Given the description of an element on the screen output the (x, y) to click on. 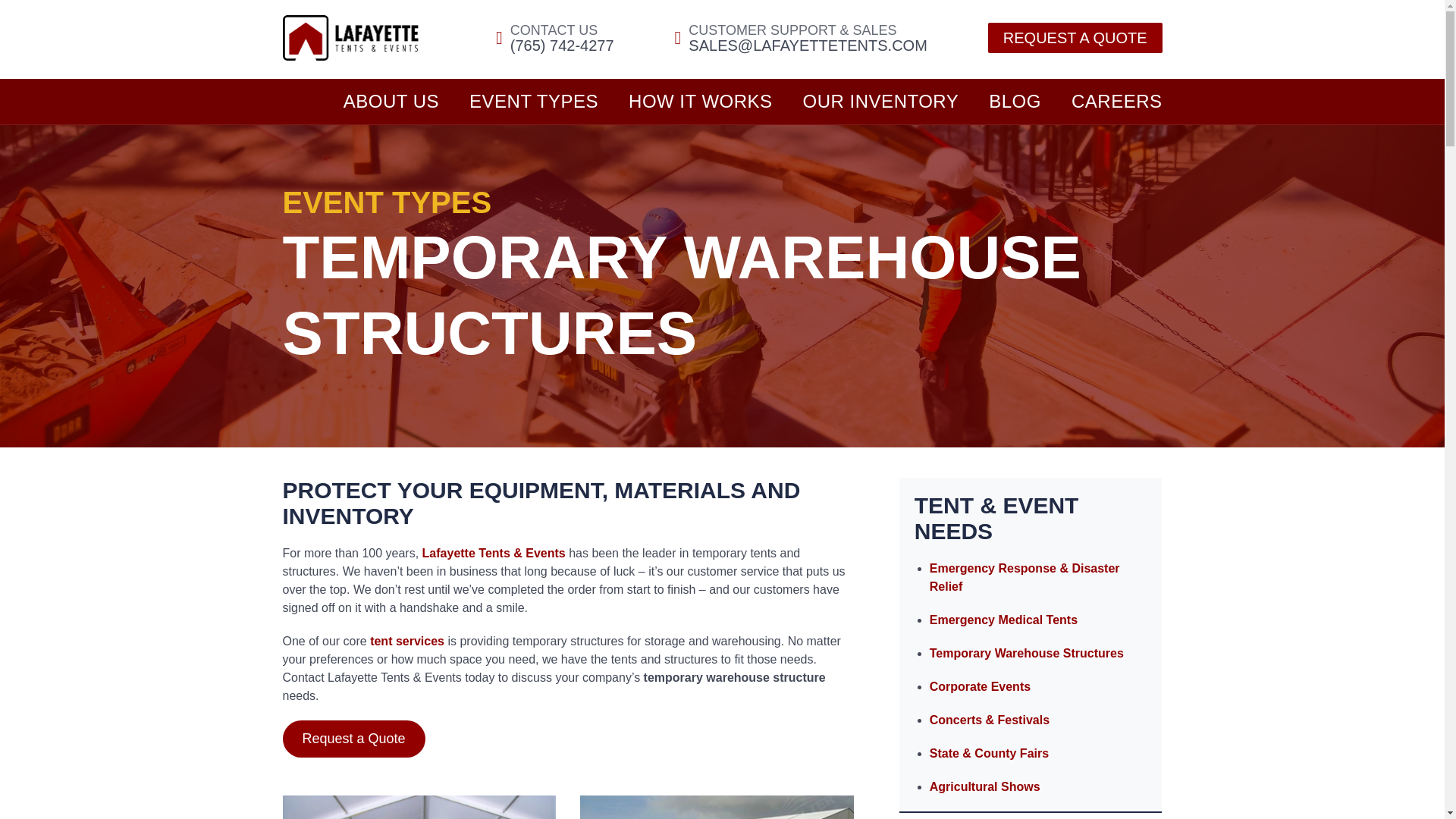
OUR INVENTORY (881, 101)
Temporary Warehouse Structures (1027, 653)
ABOUT US (391, 101)
HOW IT WORKS (700, 101)
Emergency Medical Tents (1003, 619)
Request a Quote (353, 738)
EVENT TYPES (533, 101)
Corporate Events (980, 686)
Agricultural Shows (985, 786)
REQUEST A QUOTE (1074, 37)
CAREERS (1116, 101)
BLOG (1014, 101)
tent services (406, 640)
